Given the description of an element on the screen output the (x, y) to click on. 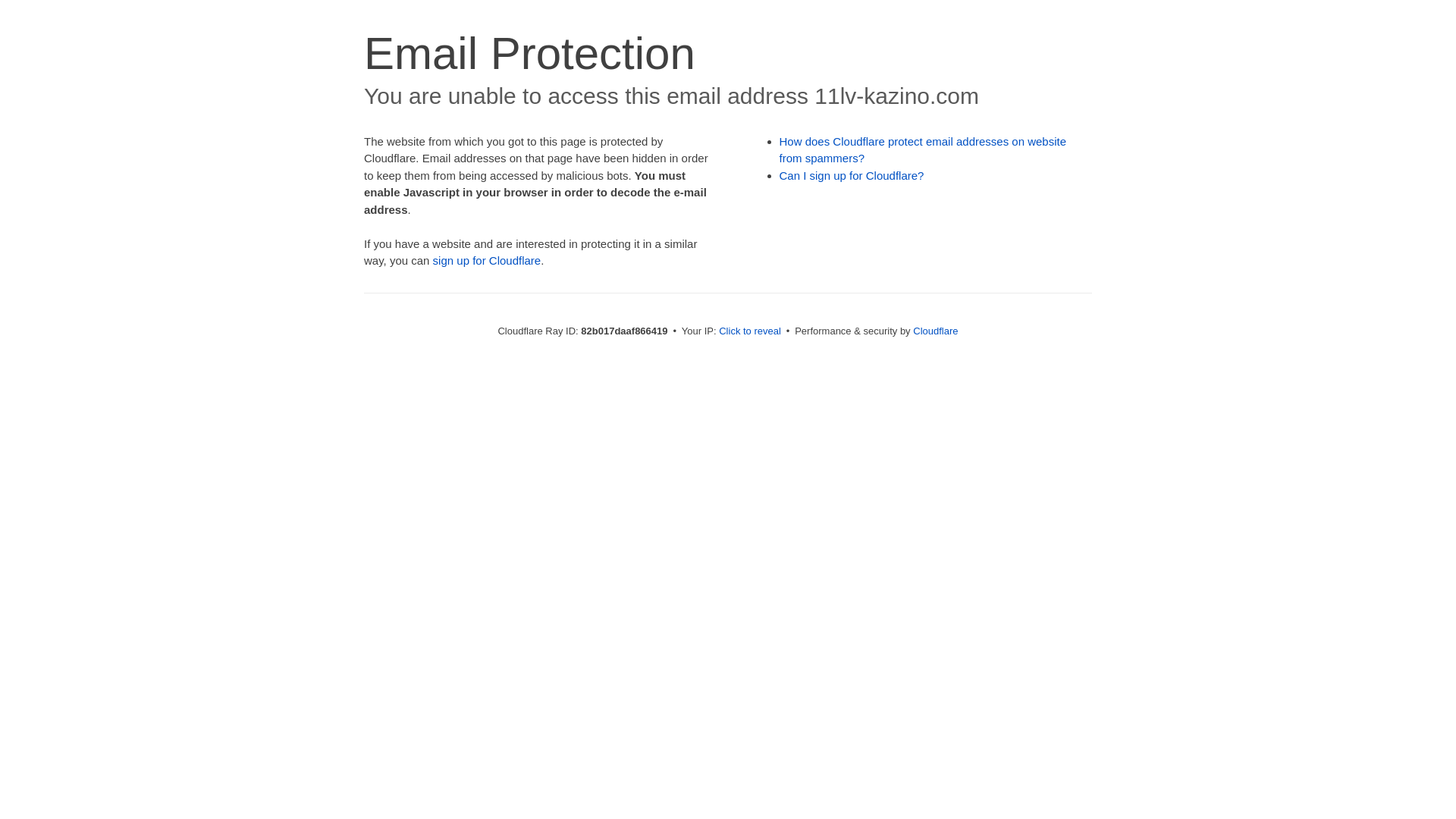
Cloudflare Element type: text (935, 330)
Can I sign up for Cloudflare? Element type: text (851, 175)
sign up for Cloudflare Element type: text (487, 260)
Click to reveal Element type: text (749, 330)
